Given the description of an element on the screen output the (x, y) to click on. 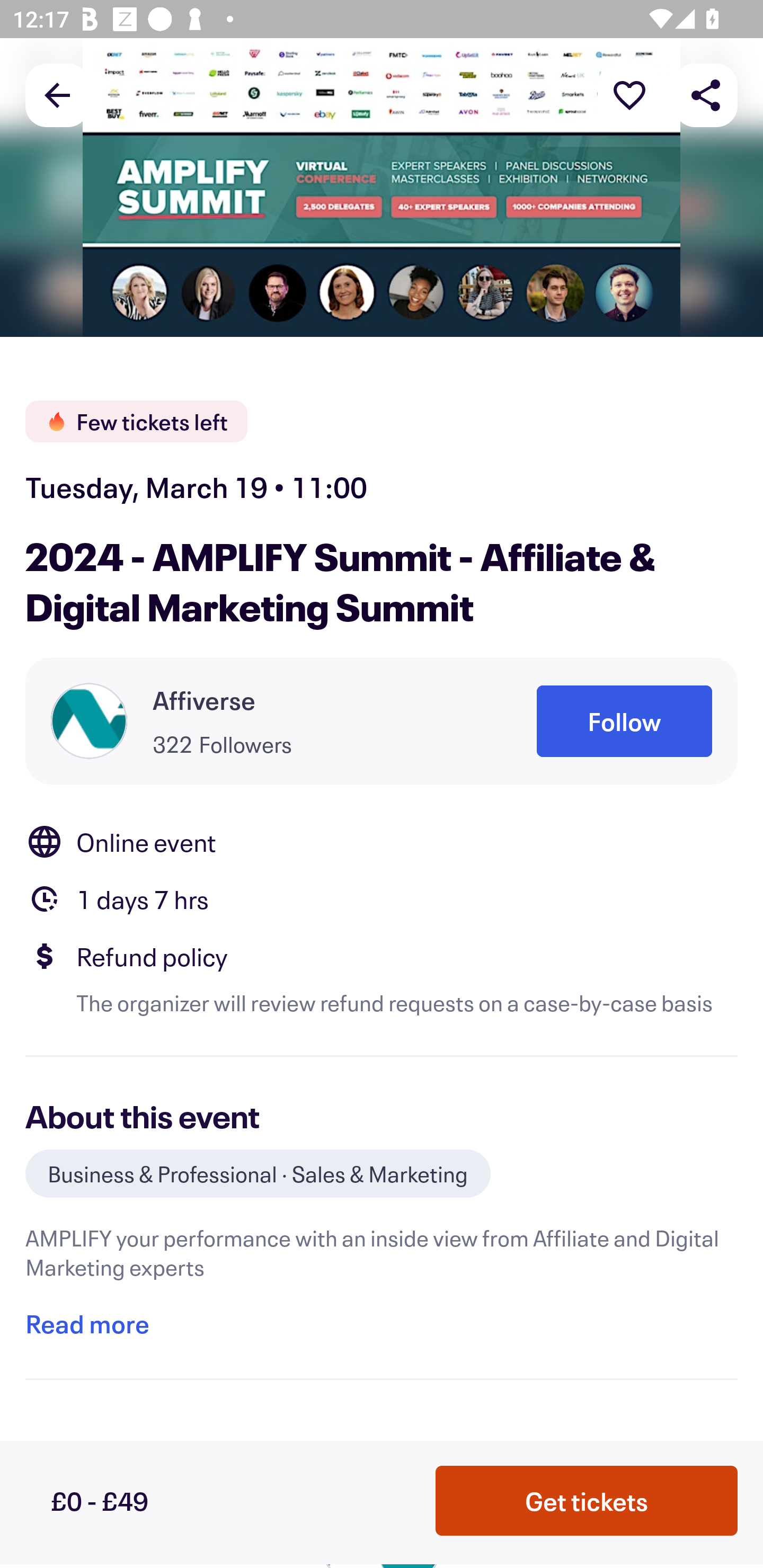
Back (57, 94)
More (629, 94)
Share (705, 94)
Affiverse (203, 699)
Organizer profile picture (89, 720)
Follow (623, 720)
Location Online event (381, 840)
Read more (87, 1323)
